Given the description of an element on the screen output the (x, y) to click on. 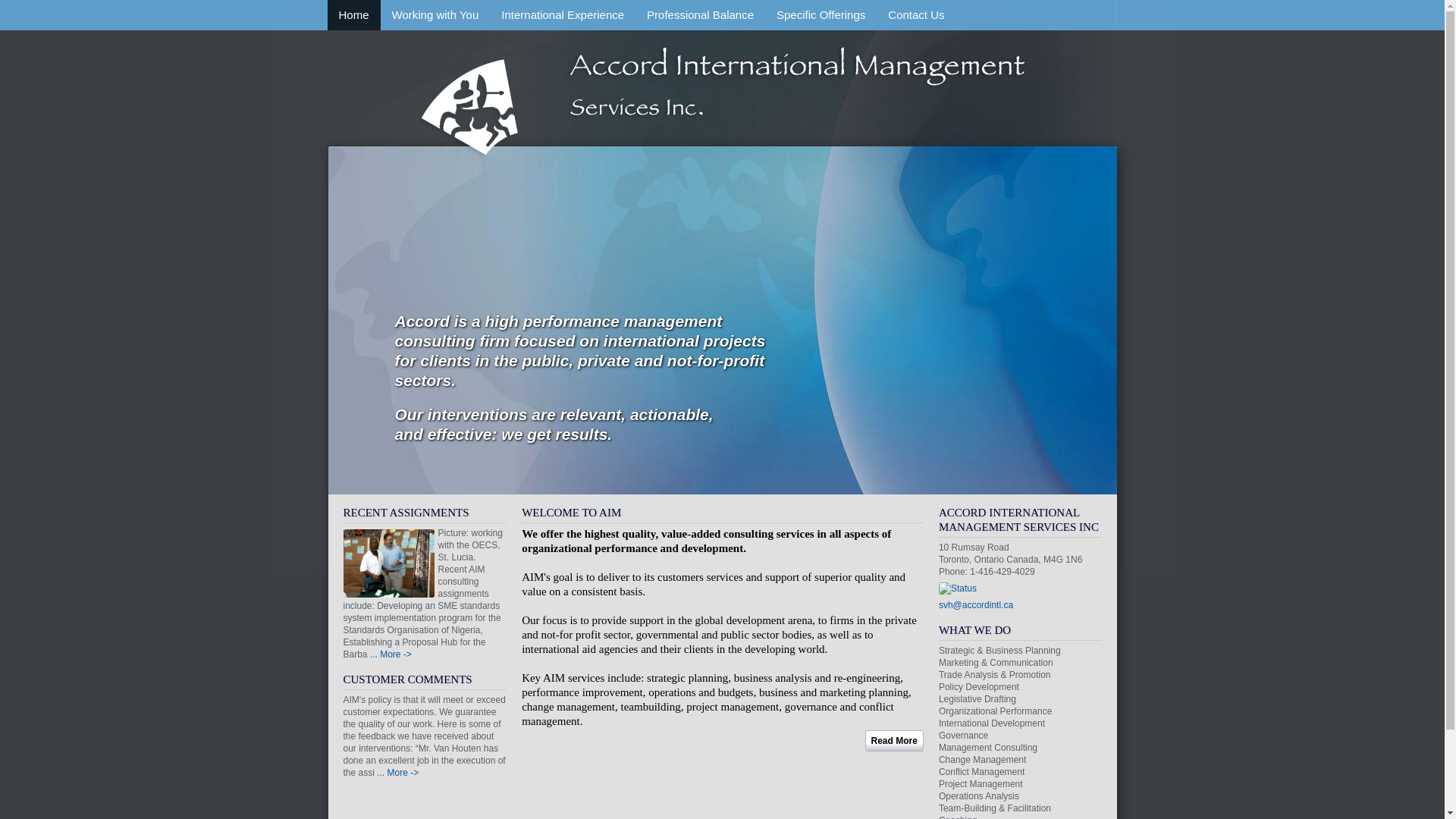
... More -> Element type: text (390, 654)
Contact Us Element type: text (915, 15)
Home Element type: text (353, 15)
... More -> Element type: text (397, 772)
Home Element type: hover (721, 101)
International Experience Element type: text (562, 15)
CUSTOMER COMMENTS Element type: text (406, 679)
svh@accordintl.ca Element type: text (975, 604)
Working with You Element type: text (435, 15)
RECENT ASSIGNMENTS Element type: text (405, 512)
Read More Element type: text (894, 739)
Professional Balance Element type: text (700, 15)
Specific Offerings Element type: text (820, 15)
